Given the description of an element on the screen output the (x, y) to click on. 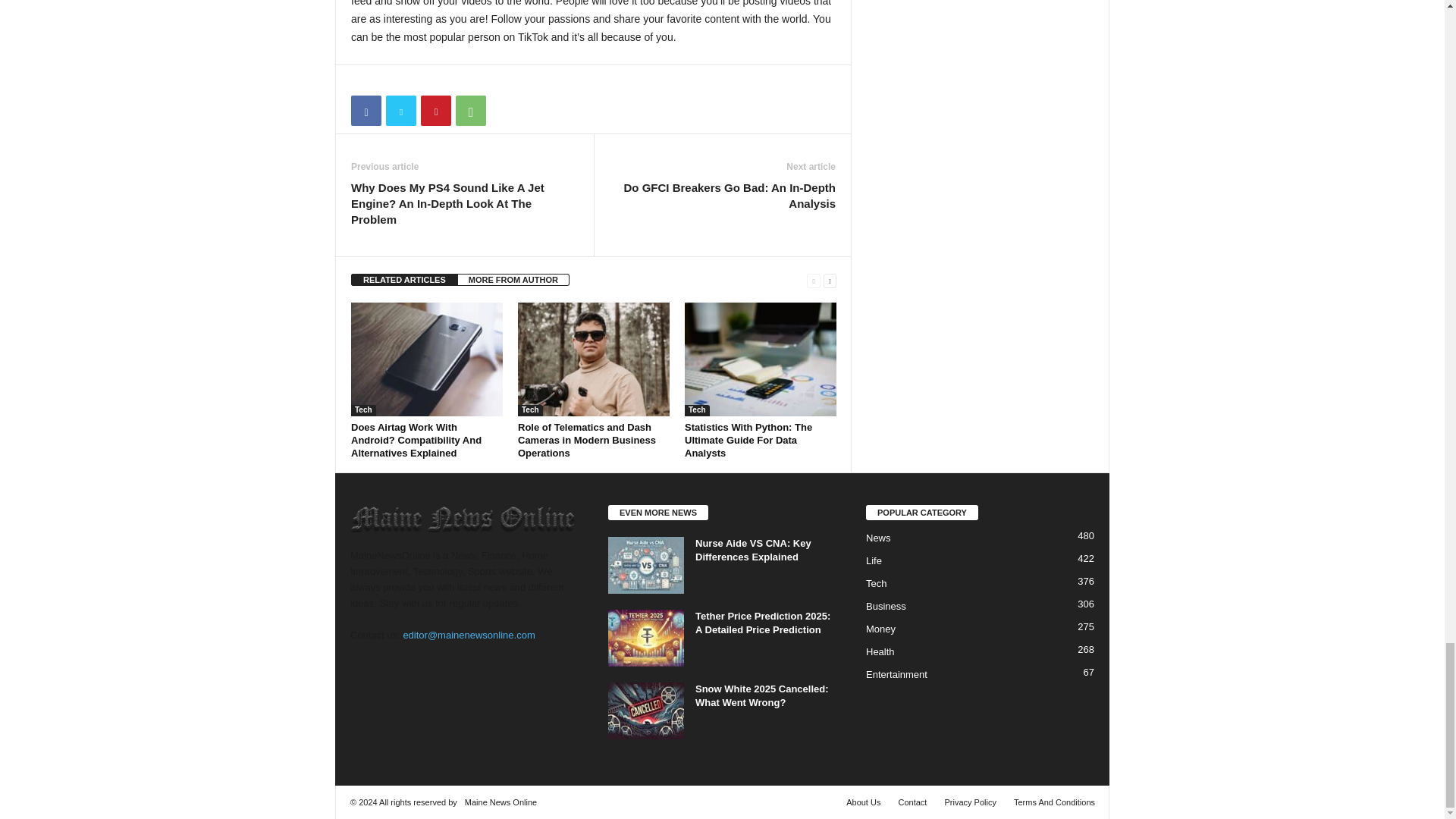
bottomFacebookLike (390, 80)
MORE FROM AUTHOR (513, 279)
Pinterest (435, 110)
Twitter (400, 110)
RELATED ARTICLES (404, 279)
Facebook (365, 110)
Do GFCI Breakers Go Bad: An In-Depth Analysis (721, 195)
WhatsApp (470, 110)
